Given the description of an element on the screen output the (x, y) to click on. 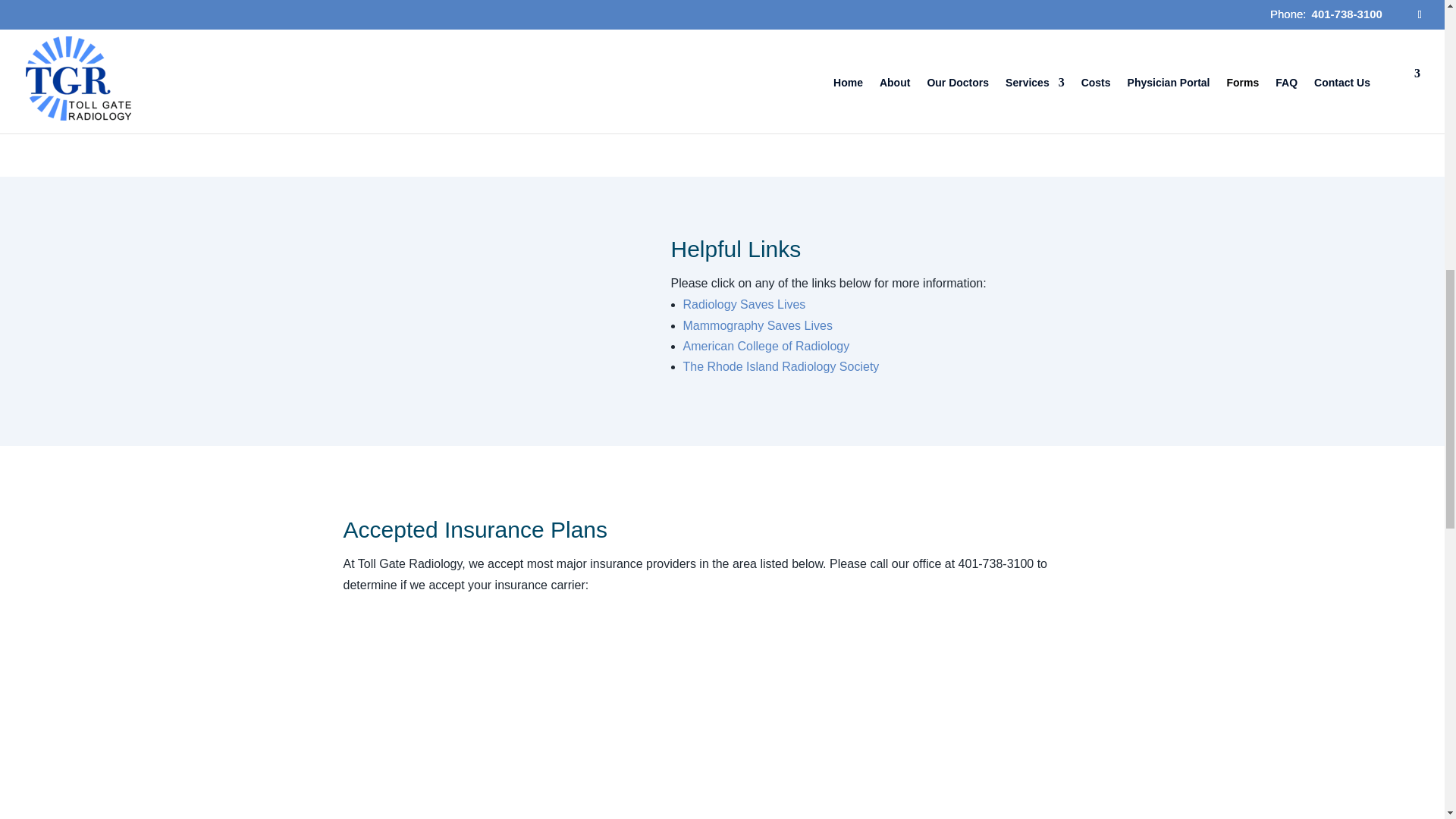
Notice of Privacy Practices (826, 15)
General Diagnostic Questionnaire (444, 84)
Shoulder Questionnaire (817, 38)
Cervical Spine Questionnaire (432, 61)
insurance-logos (721, 711)
CAT Scan Questionnaire (419, 38)
Mammography Saves Lives (756, 325)
Shoulder exam (476, 310)
The Rhode Island Radiology Society (780, 366)
Ultrasound Questionnaire (822, 84)
